Given the description of an element on the screen output the (x, y) to click on. 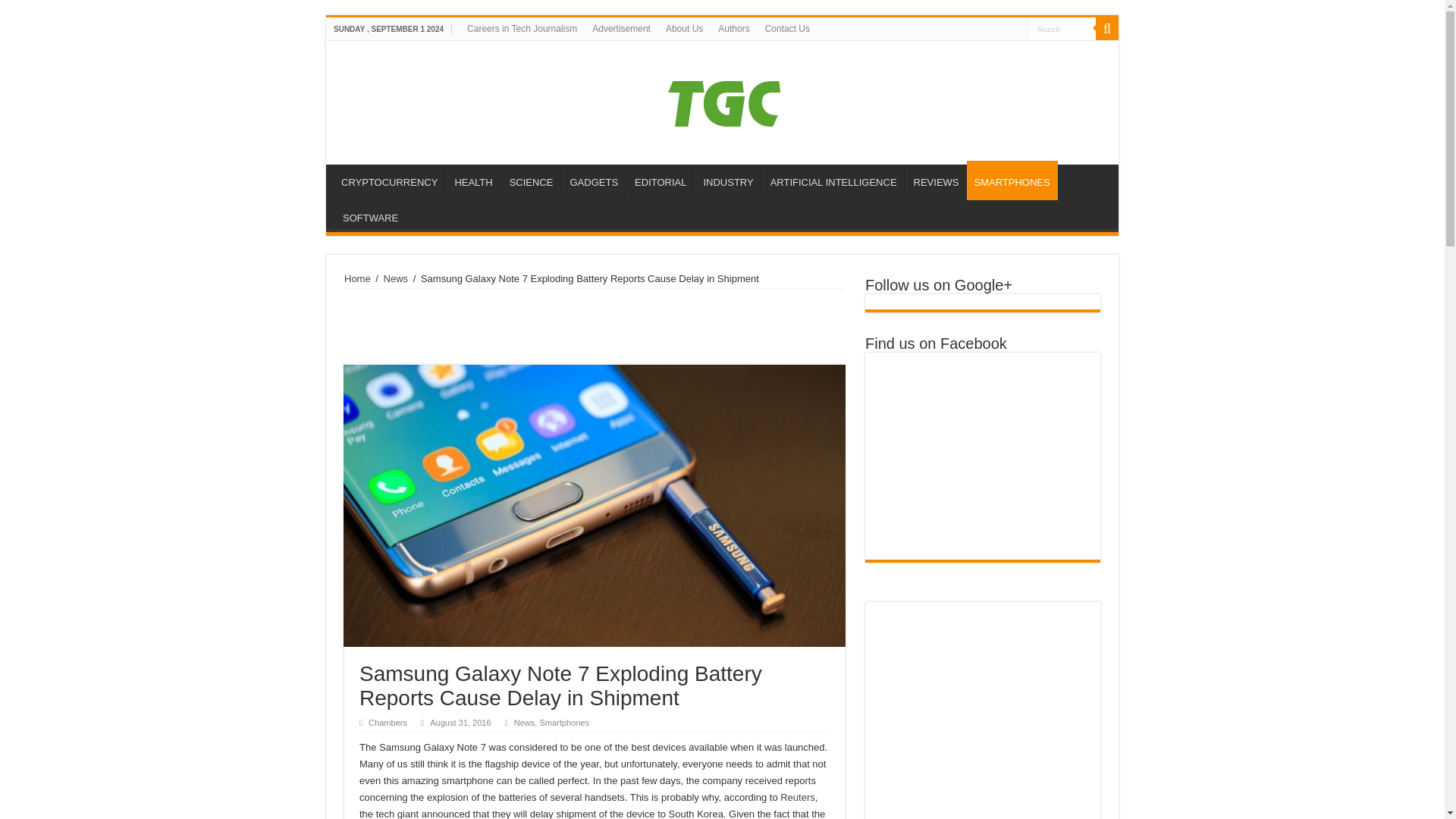
Home (357, 278)
HEALTH (472, 180)
INDUSTRY (727, 180)
Smartphones (564, 722)
Tech Gadget Central (722, 99)
Search (1061, 28)
Search (1107, 28)
News (524, 722)
SOFTWARE (370, 215)
Search (1061, 28)
